Given the description of an element on the screen output the (x, y) to click on. 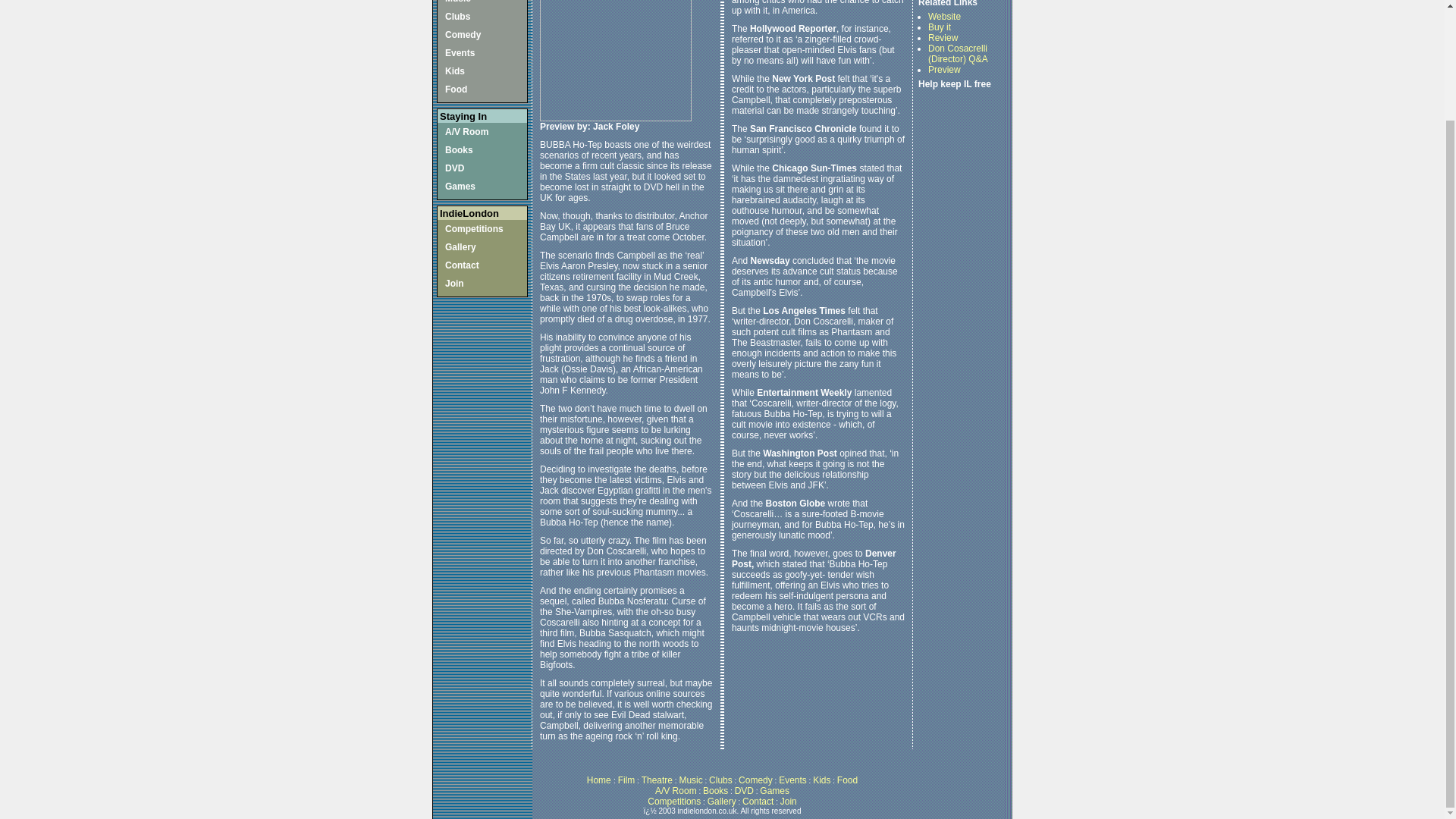
Clubs (457, 16)
Music (457, 2)
Kids (454, 71)
DVD (454, 167)
Join (454, 283)
Gallery (460, 246)
Events (459, 52)
Contact (462, 265)
Comedy (462, 34)
Competitions (474, 228)
